Given the description of an element on the screen output the (x, y) to click on. 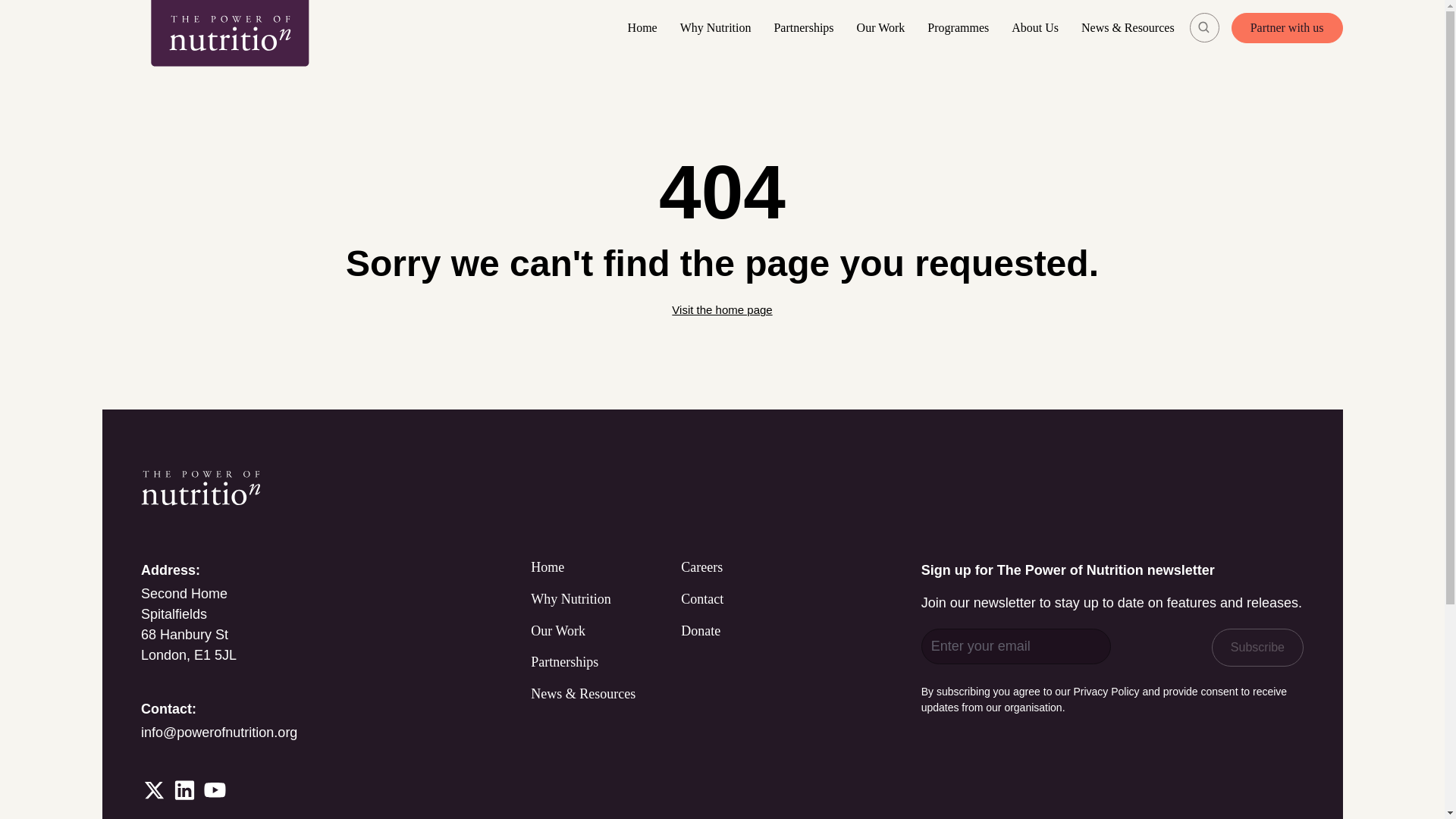
Home (646, 27)
Why Nutrition (719, 27)
Partner with us (1286, 28)
About Us (1039, 27)
Our Work (884, 27)
Partnerships (806, 27)
Programmes (962, 27)
